Given the description of an element on the screen output the (x, y) to click on. 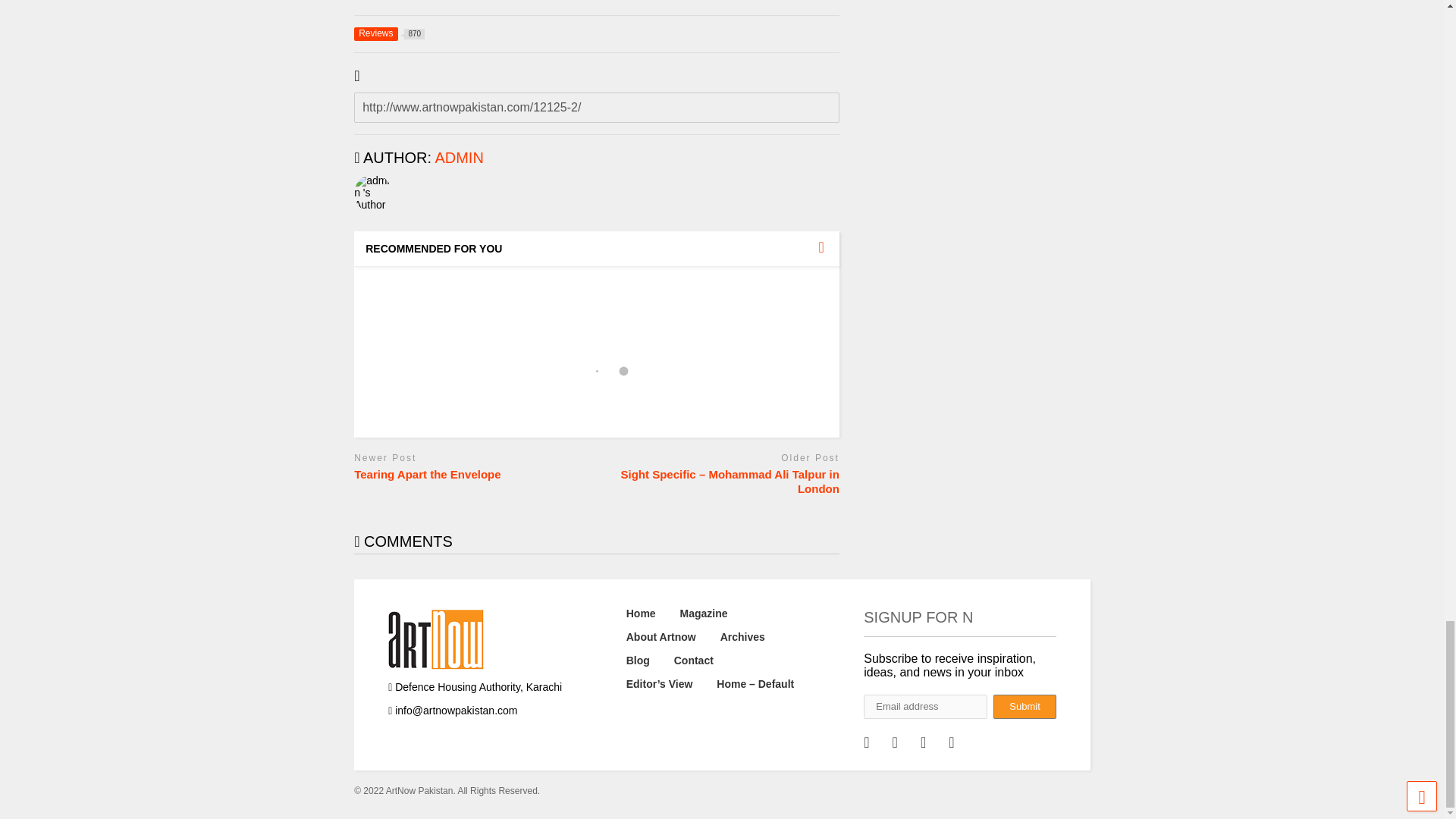
Submit (1023, 706)
author profile (389, 33)
ADMIN (458, 157)
